Given the description of an element on the screen output the (x, y) to click on. 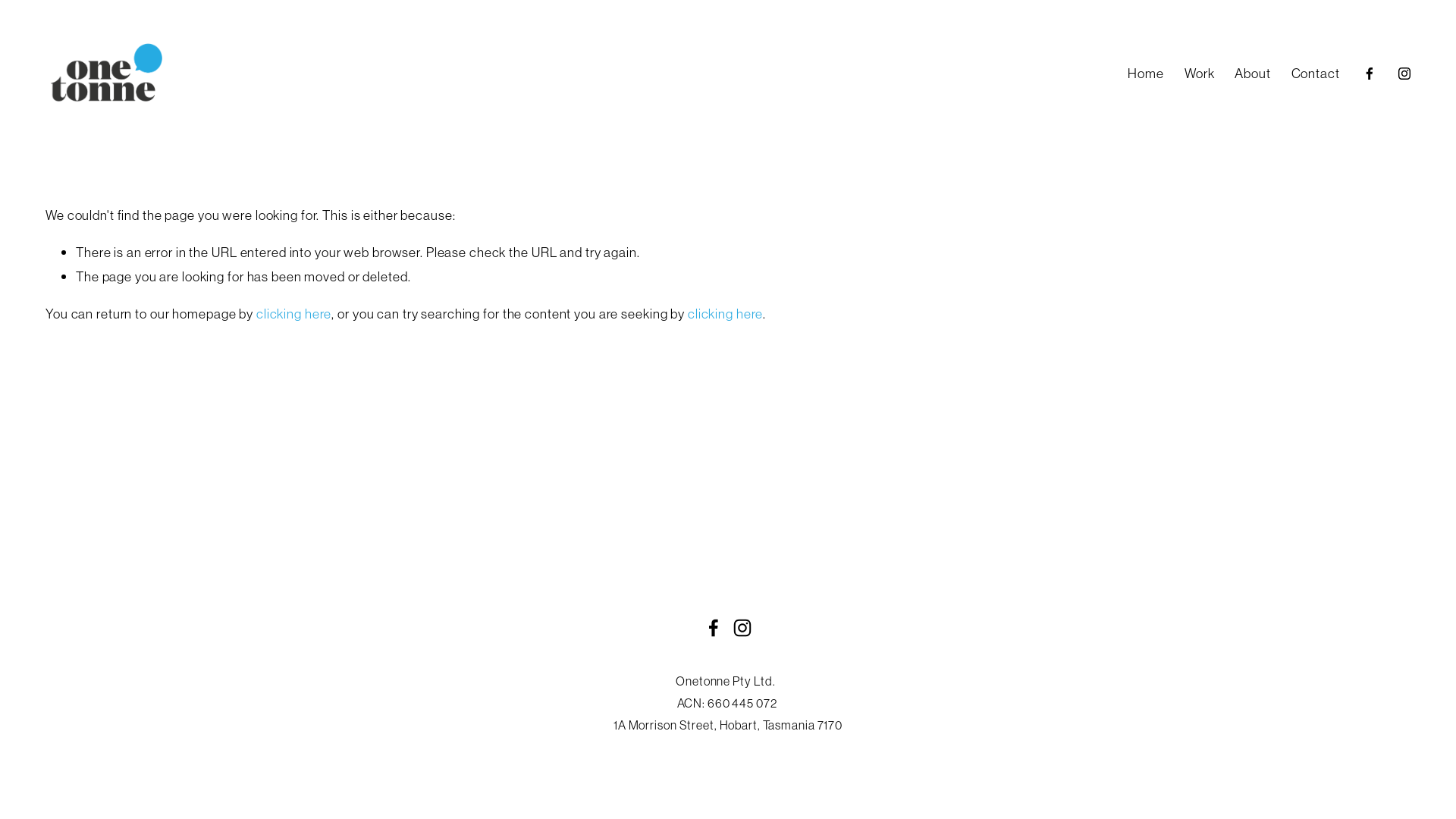
Contact Element type: text (1315, 72)
Home Element type: text (1145, 72)
Work Element type: text (1199, 72)
clicking here Element type: text (293, 313)
About Element type: text (1252, 72)
clicking here Element type: text (724, 313)
